Given the description of an element on the screen output the (x, y) to click on. 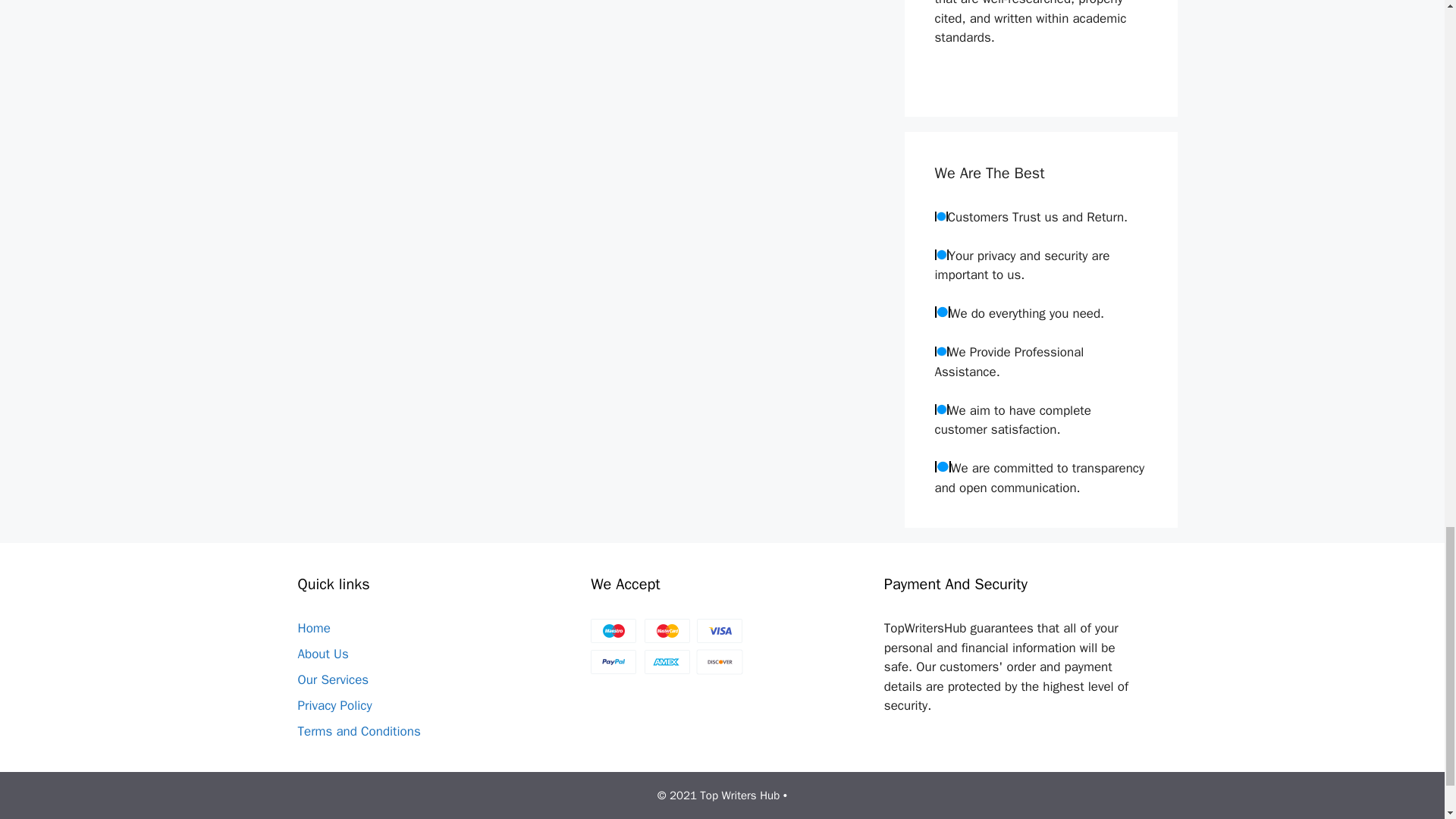
Our Services (332, 679)
Privacy Policy (334, 705)
About Us (322, 653)
Terms and Conditions (358, 731)
Home (313, 627)
